Given the description of an element on the screen output the (x, y) to click on. 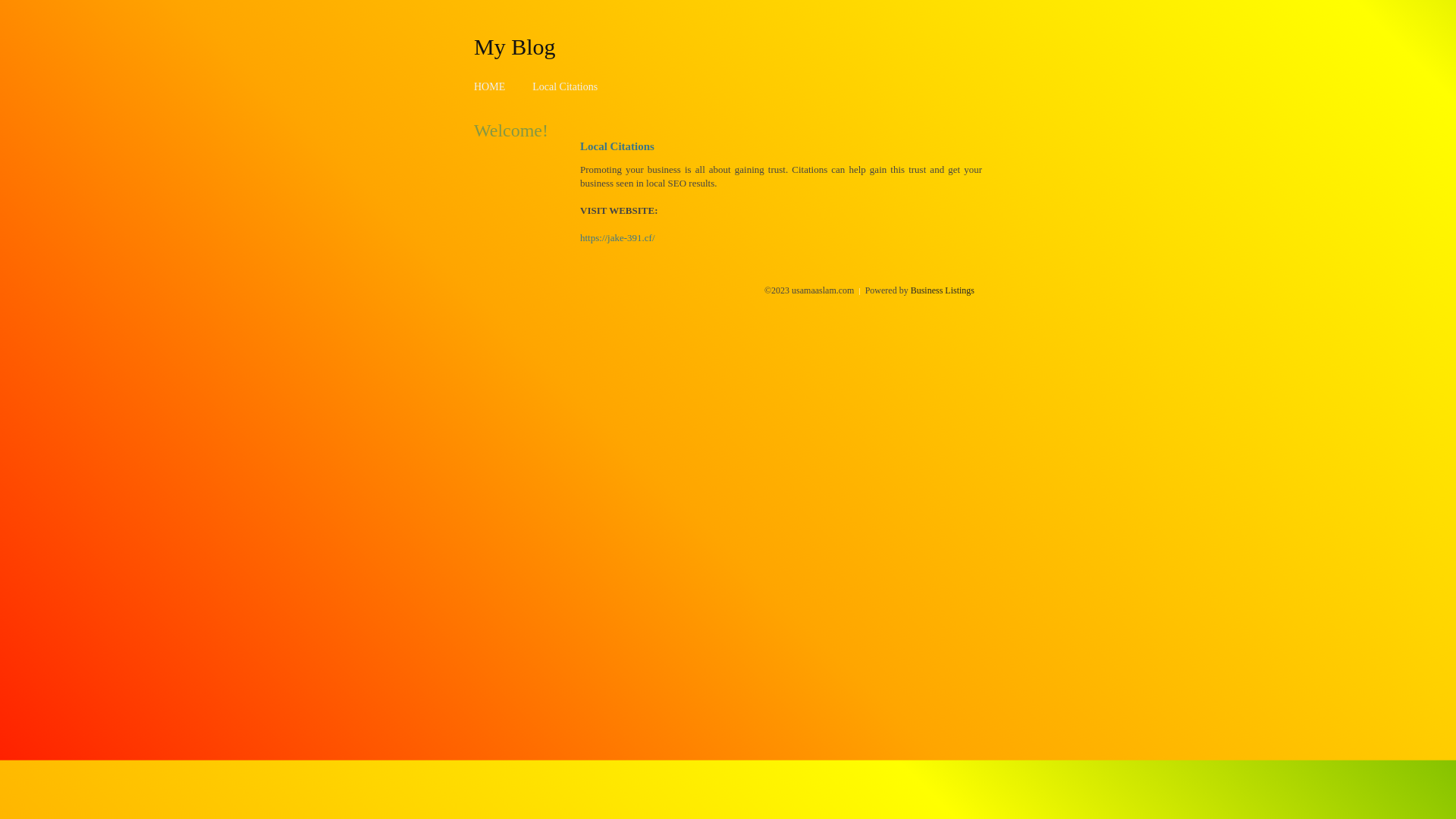
https://jake-391.cf/ Element type: text (617, 237)
Local Citations Element type: text (564, 86)
Business Listings Element type: text (942, 290)
HOME Element type: text (489, 86)
My Blog Element type: text (514, 46)
